Given the description of an element on the screen output the (x, y) to click on. 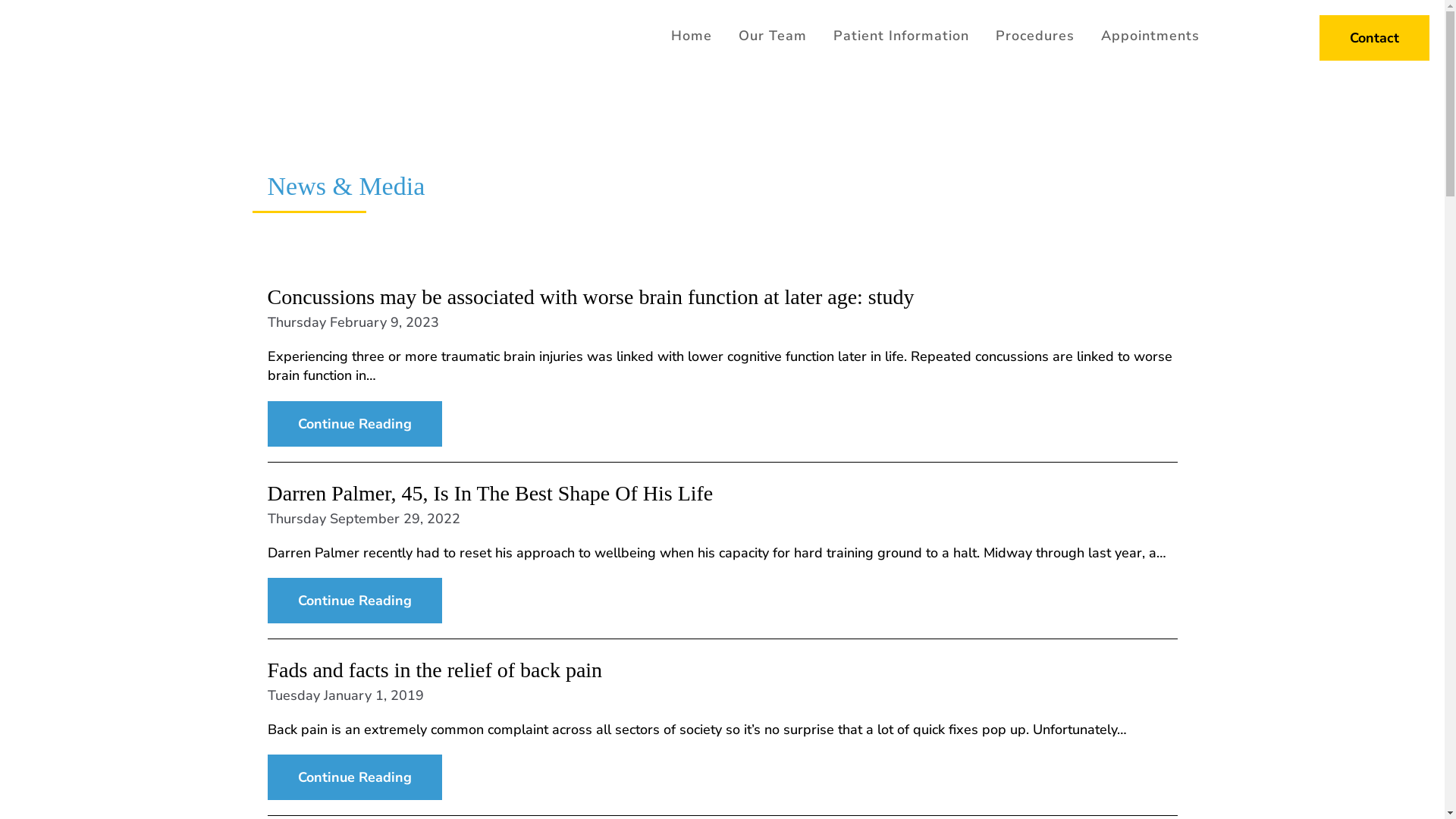
Home Element type: text (691, 36)
Our Team Element type: text (772, 36)
Continue Reading Element type: text (353, 423)
Contact Element type: text (1374, 37)
Appointments Element type: text (1150, 36)
Continue Reading Element type: text (353, 777)
Fads and facts in the relief of back pain Element type: text (434, 669)
Darren Palmer, 45, Is In The Best Shape Of His Life Element type: text (489, 493)
Procedures Element type: text (1034, 36)
Continue Reading Element type: text (353, 600)
Patient Information Element type: text (901, 36)
